Given the description of an element on the screen output the (x, y) to click on. 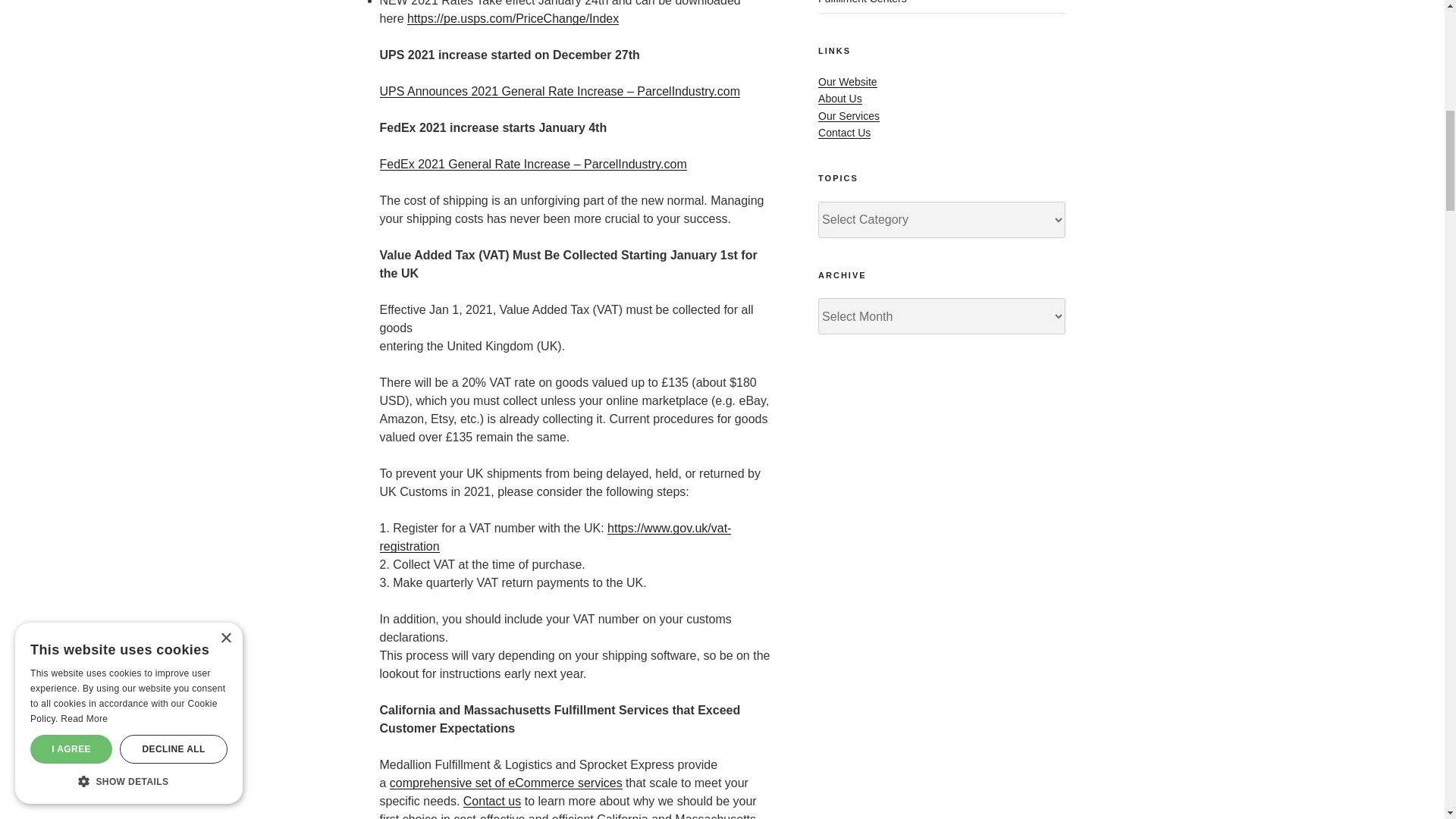
Contact us (492, 800)
comprehensive set of eCommerce services (506, 782)
